Given the description of an element on the screen output the (x, y) to click on. 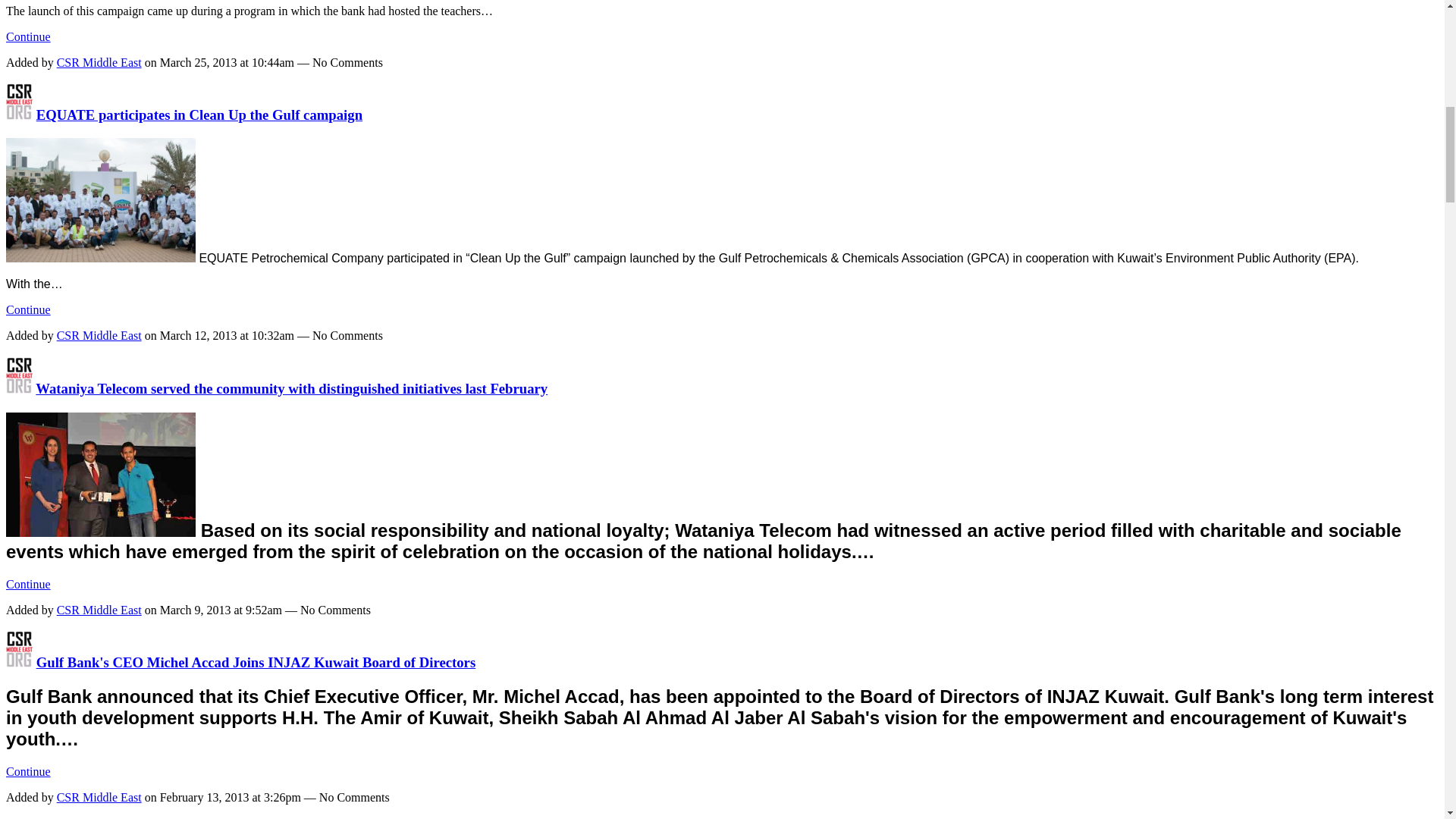
CSR Middle East (18, 388)
CSR Middle East (18, 662)
CSR Middle East (18, 114)
